Given the description of an element on the screen output the (x, y) to click on. 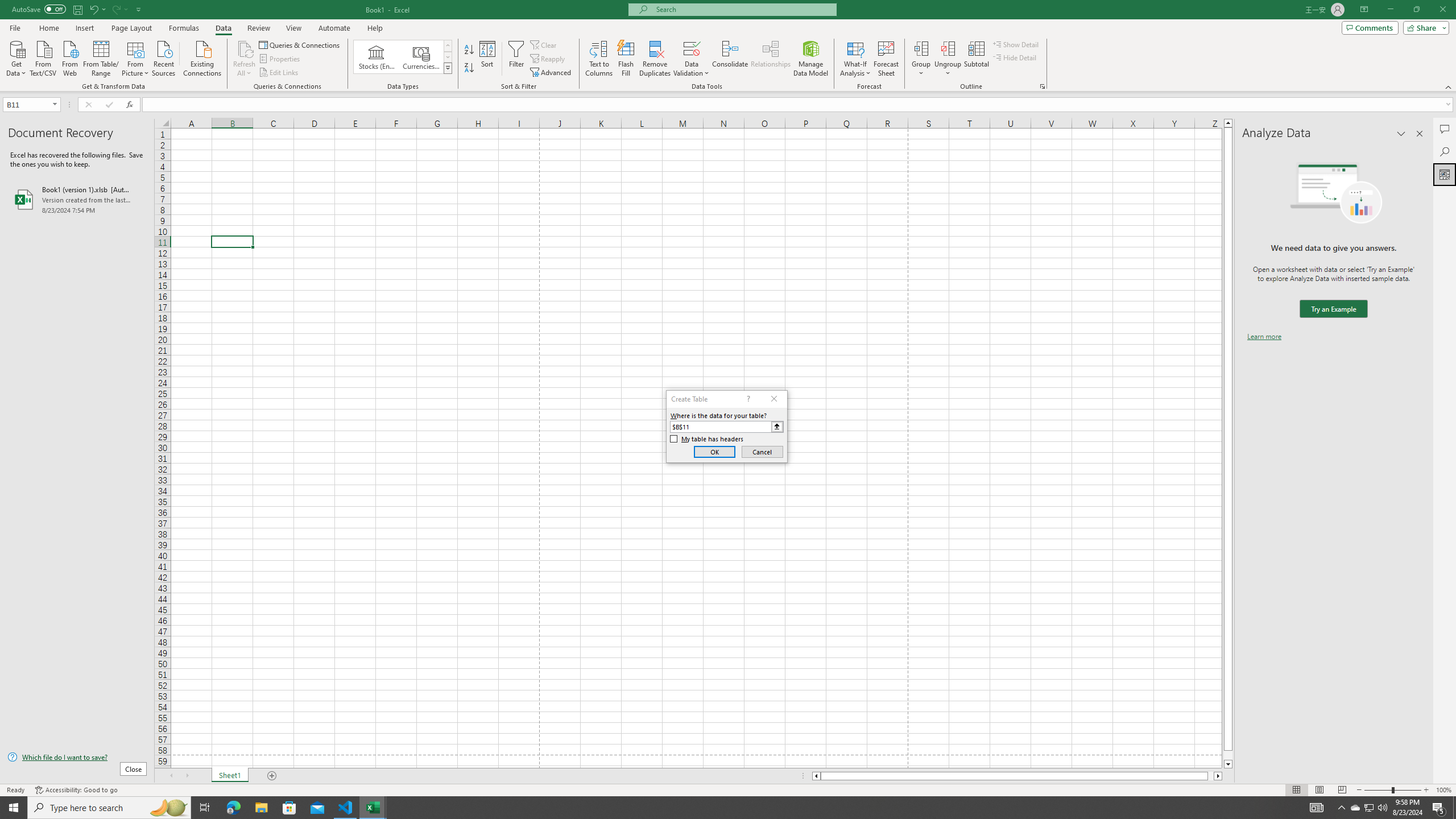
Stocks (English) (375, 56)
